Given the description of an element on the screen output the (x, y) to click on. 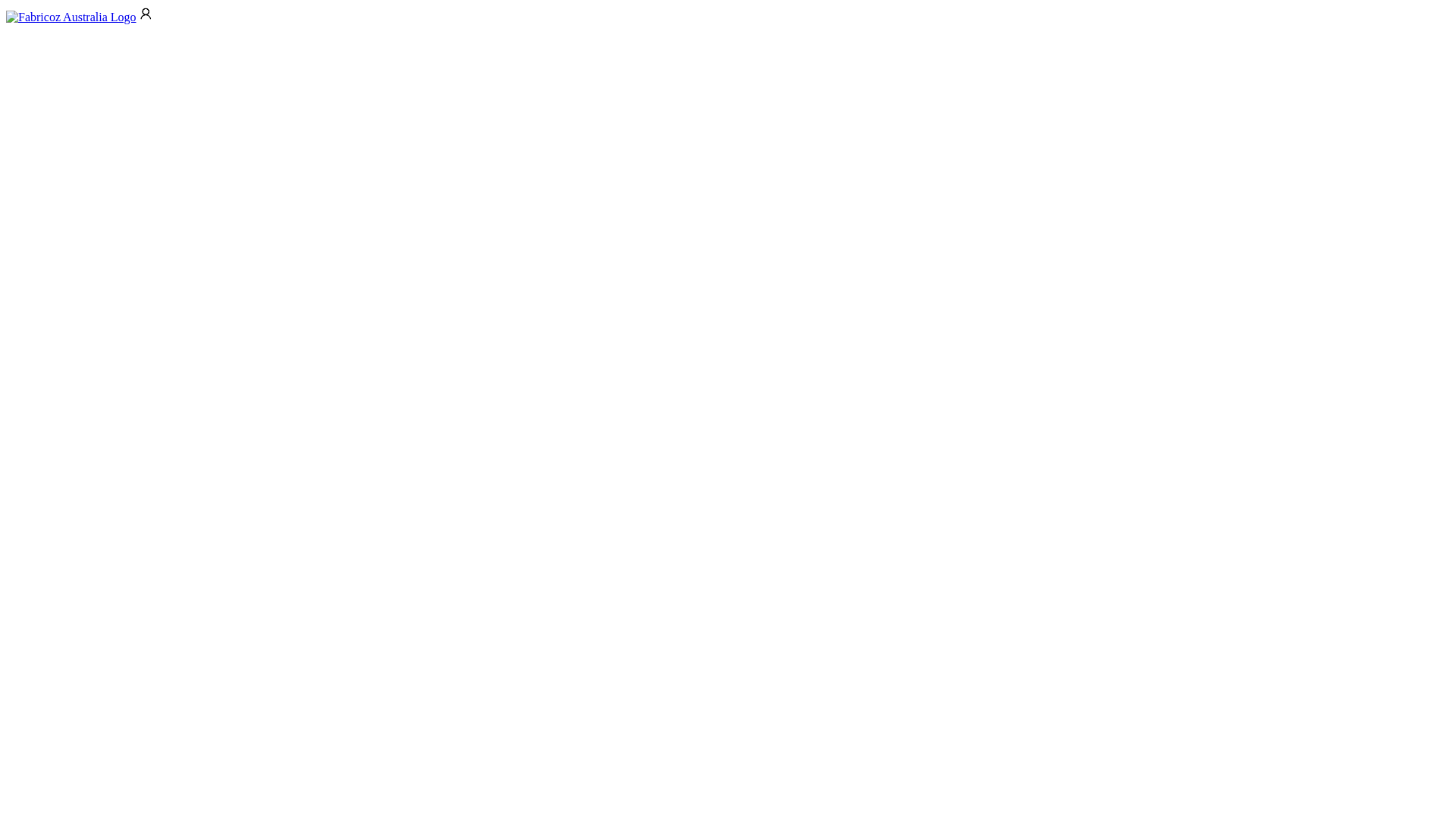
Fabricoz Australia Element type: hover (71, 16)
